Given the description of an element on the screen output the (x, y) to click on. 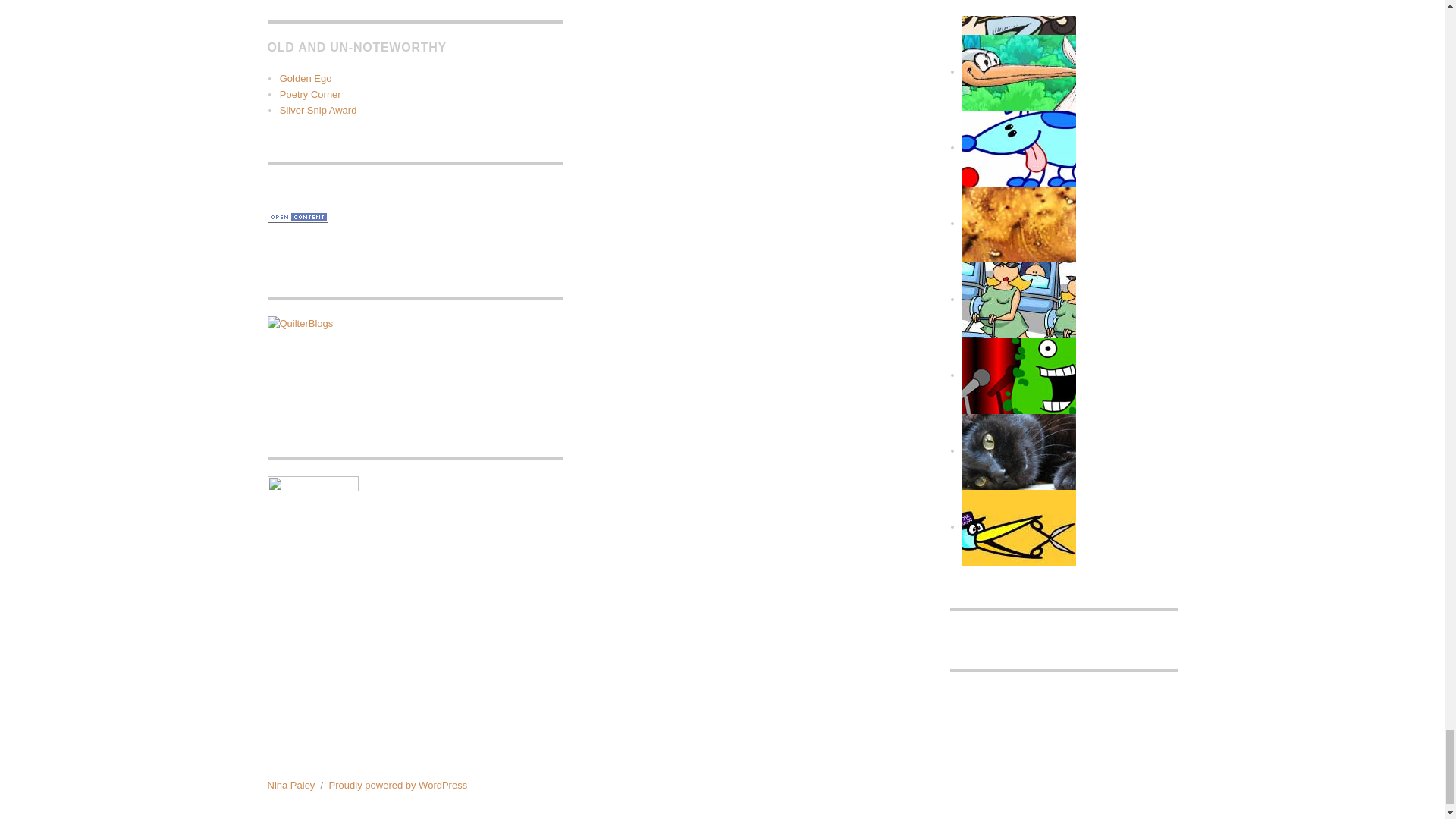
QuilterBlogs (414, 365)
